Given the description of an element on the screen output the (x, y) to click on. 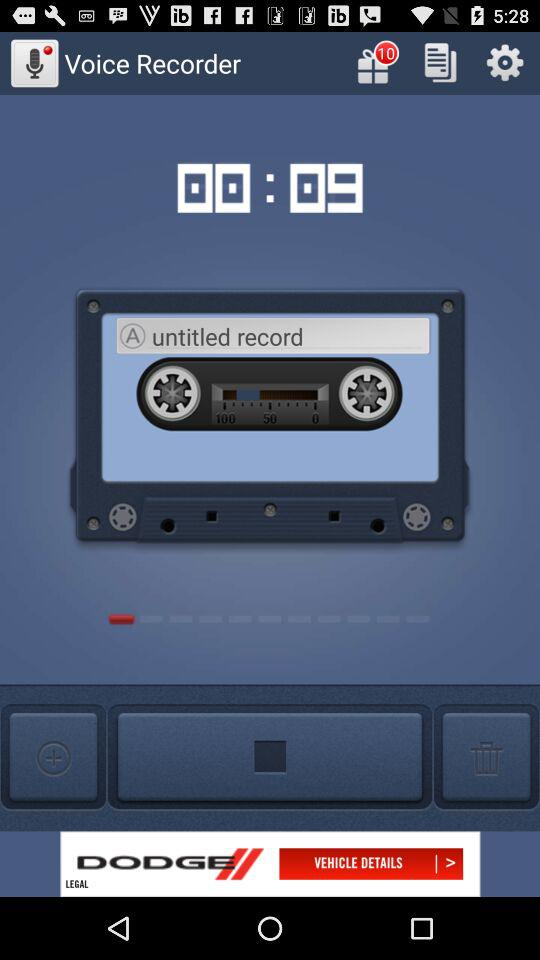
shows record start option (269, 757)
